Given the description of an element on the screen output the (x, y) to click on. 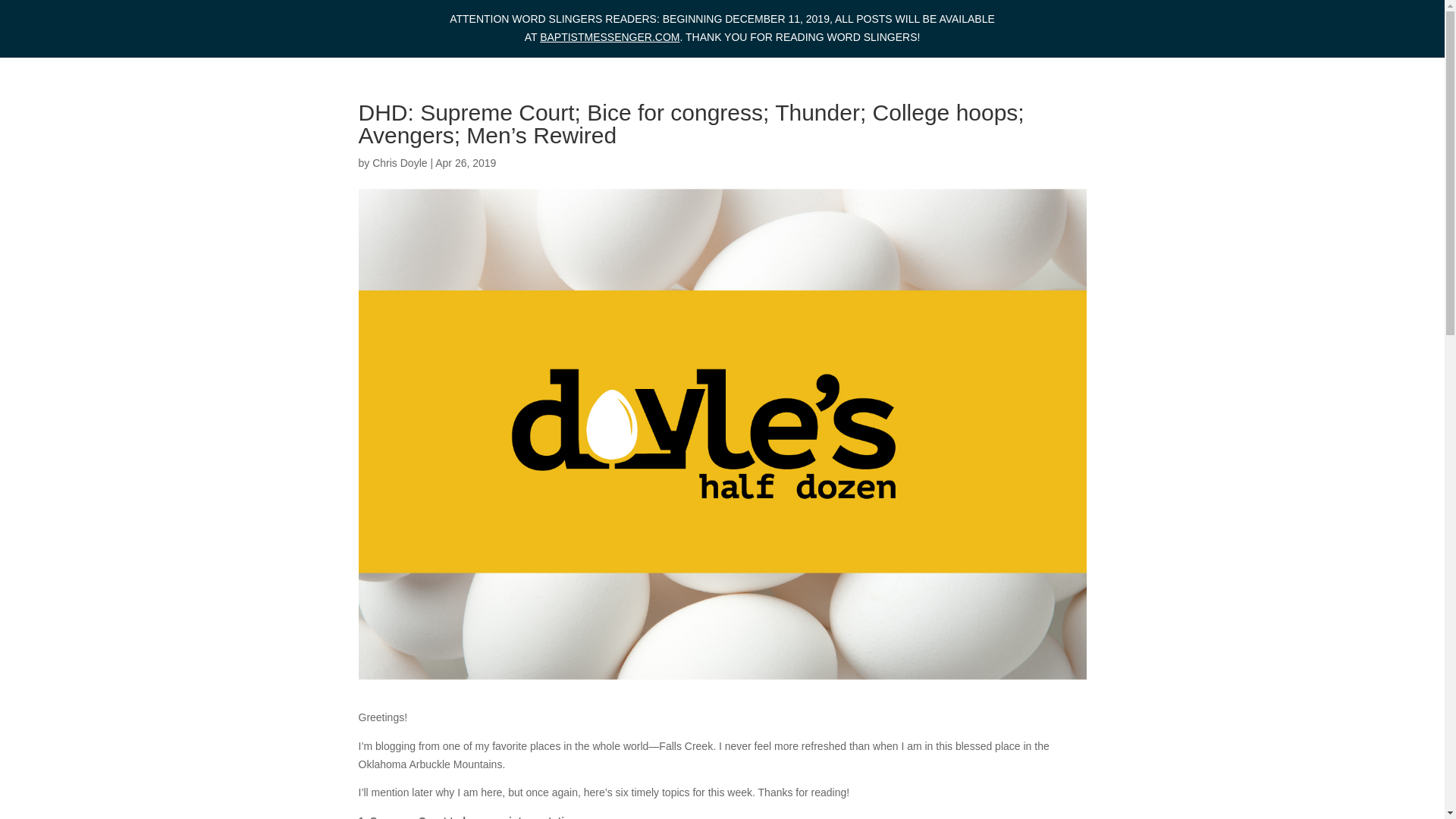
Chris Doyle (399, 162)
Posts by Chris Doyle (399, 162)
BAPTISTMESSENGER.COM (609, 37)
